Given the description of an element on the screen output the (x, y) to click on. 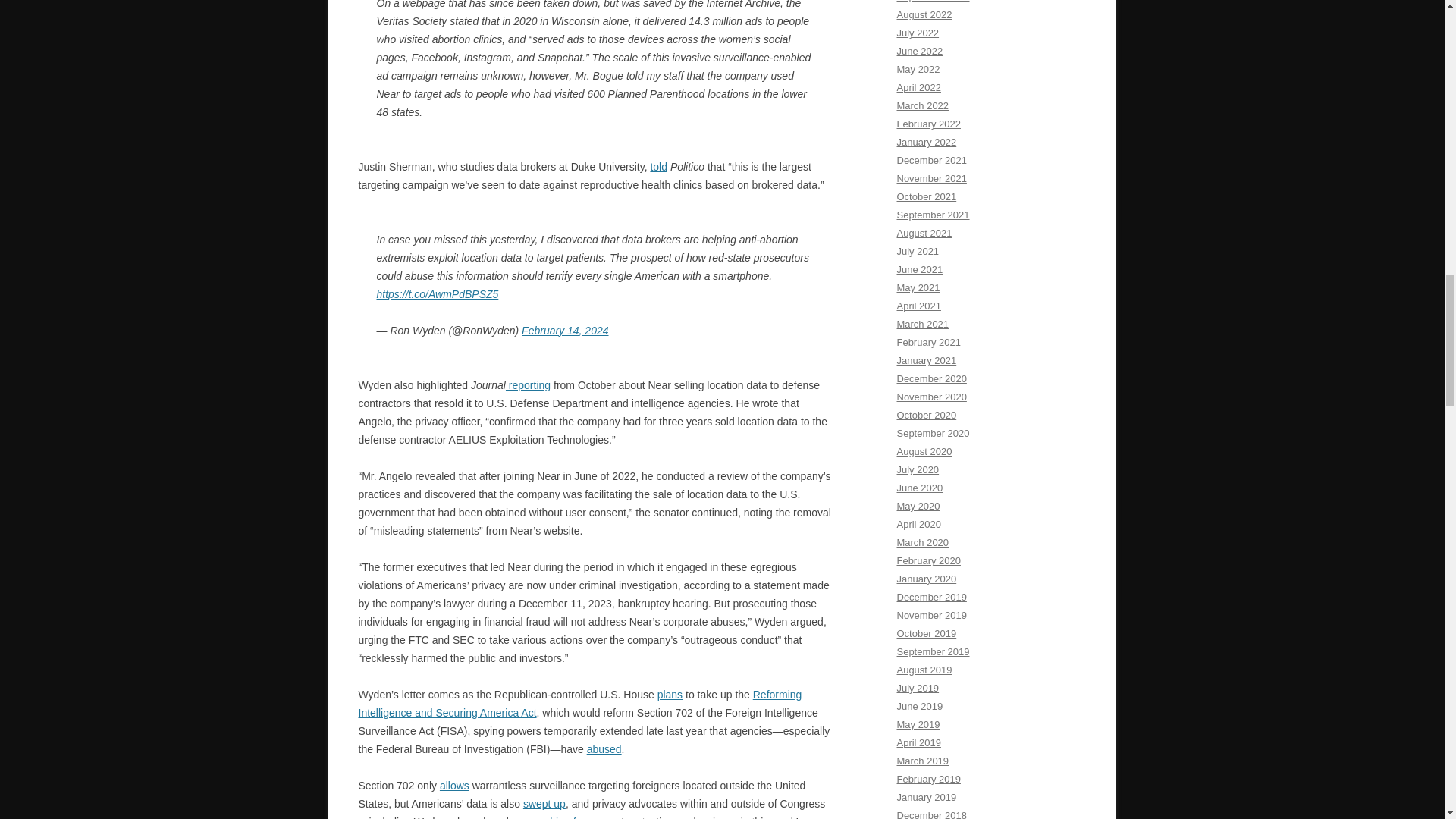
told (657, 166)
abused (603, 748)
pushing for (558, 817)
swept up (544, 803)
allows (453, 785)
February 14, 2024 (564, 330)
reporting (527, 385)
plans (670, 694)
Reforming Intelligence and Securing America Act (580, 703)
